Given the description of an element on the screen output the (x, y) to click on. 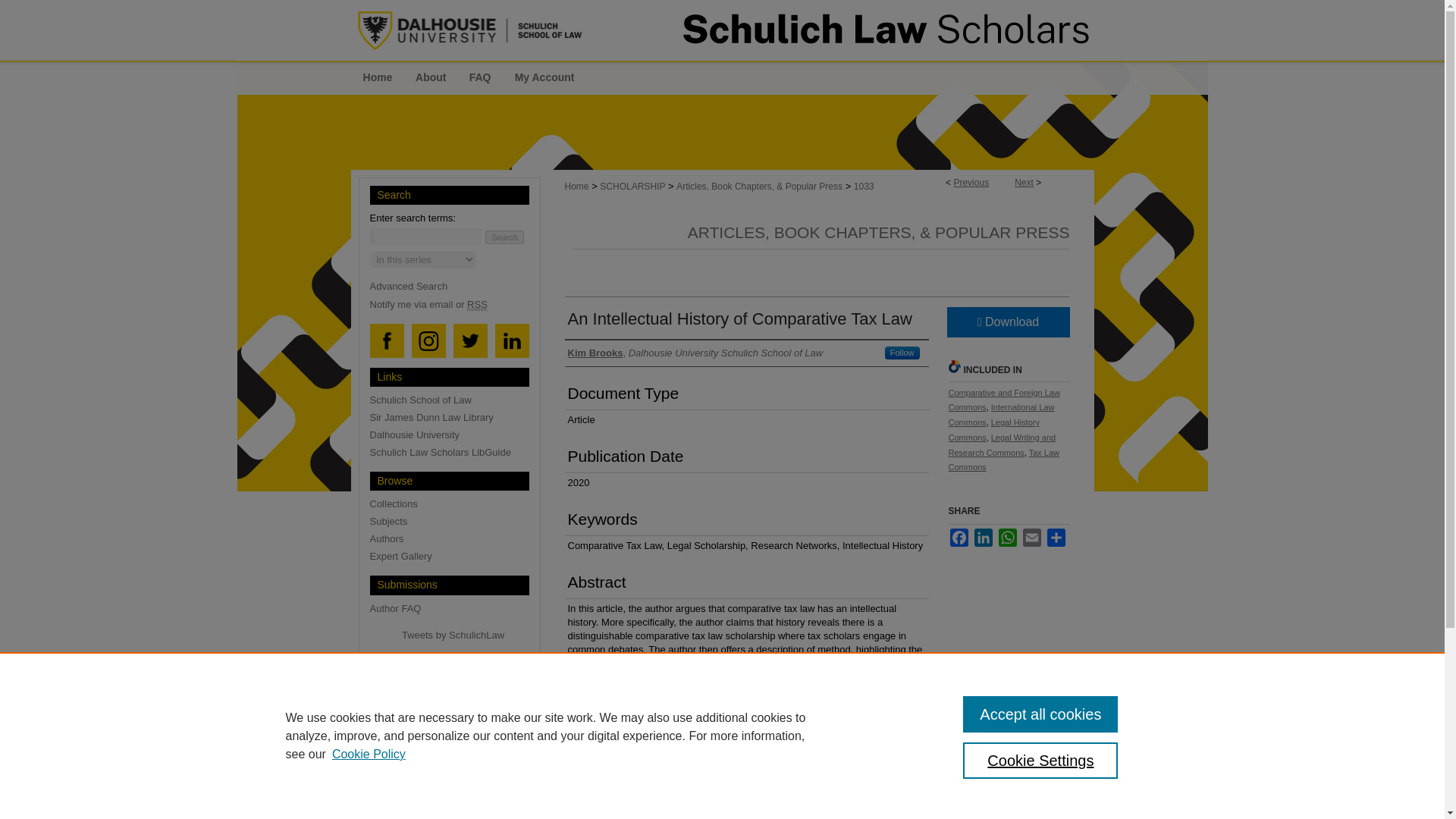
My Account (544, 77)
Kim Brooks, Dalhousie University Schulich School of Law (694, 352)
LinkedIn (982, 537)
FAQ (480, 77)
International Law Commons (1000, 414)
My Account (544, 77)
About (430, 77)
Follow (902, 351)
Legal History Commons (993, 429)
Advanced Search (408, 285)
Search (504, 237)
Follow Kim Brooks (902, 351)
FAQ (480, 77)
Schulich Law Scholars (721, 30)
Download (1007, 321)
